Given the description of an element on the screen output the (x, y) to click on. 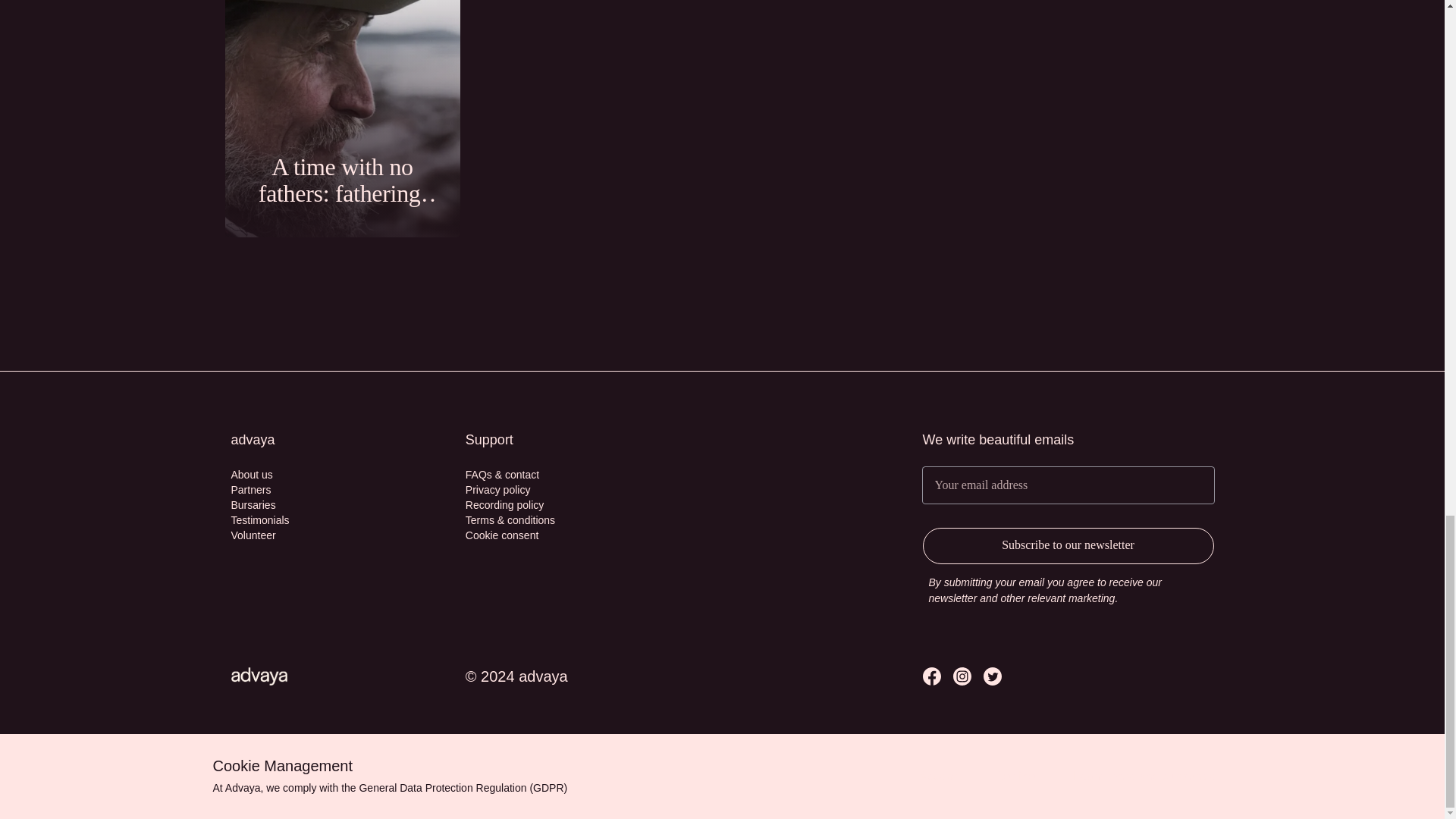
Bursaries (252, 504)
Privacy policy (498, 489)
Volunteer (252, 534)
A time with no fathers: fathering, patrimony and eldership (342, 118)
Recording policy (504, 504)
Testimonials (259, 519)
Subscribe to our newsletter (1066, 545)
Partners (250, 489)
Cookie consent (501, 534)
About us (251, 474)
